Given the description of an element on the screen output the (x, y) to click on. 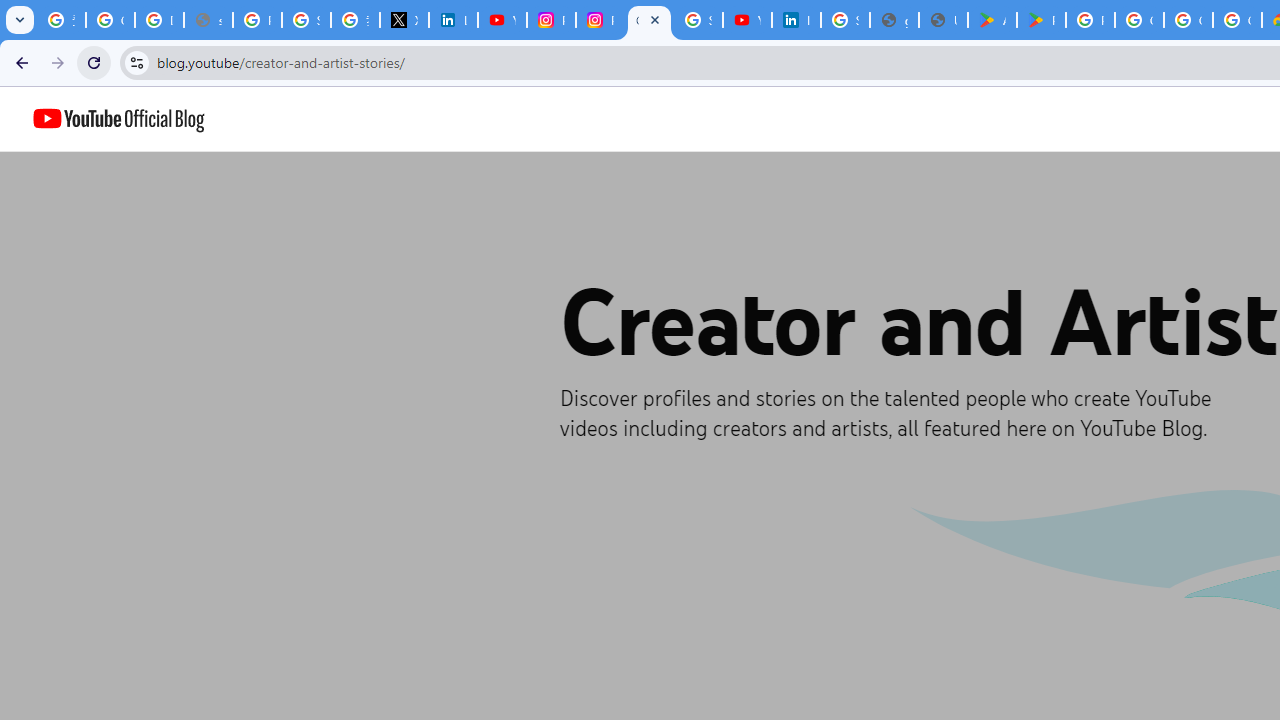
Sign in - Google Accounts (306, 20)
X (404, 20)
Identity verification via Persona | LinkedIn Help (795, 20)
User Details (943, 20)
google_privacy_policy_en.pdf (894, 20)
YouTube Official Blog logo (118, 119)
Sign in - Google Accounts (845, 20)
